Given the description of an element on the screen output the (x, y) to click on. 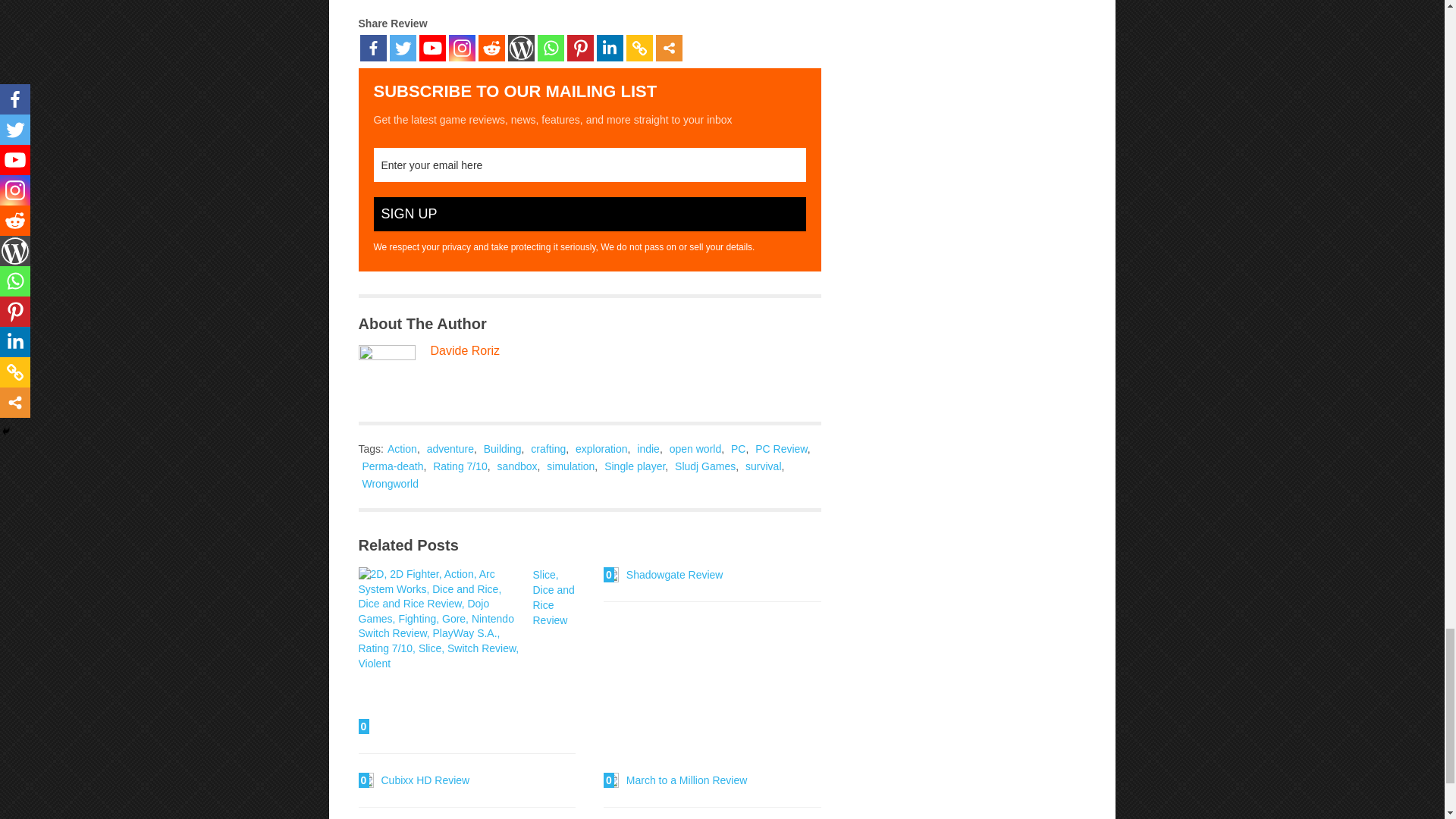
Sign Up (588, 213)
